Given the description of an element on the screen output the (x, y) to click on. 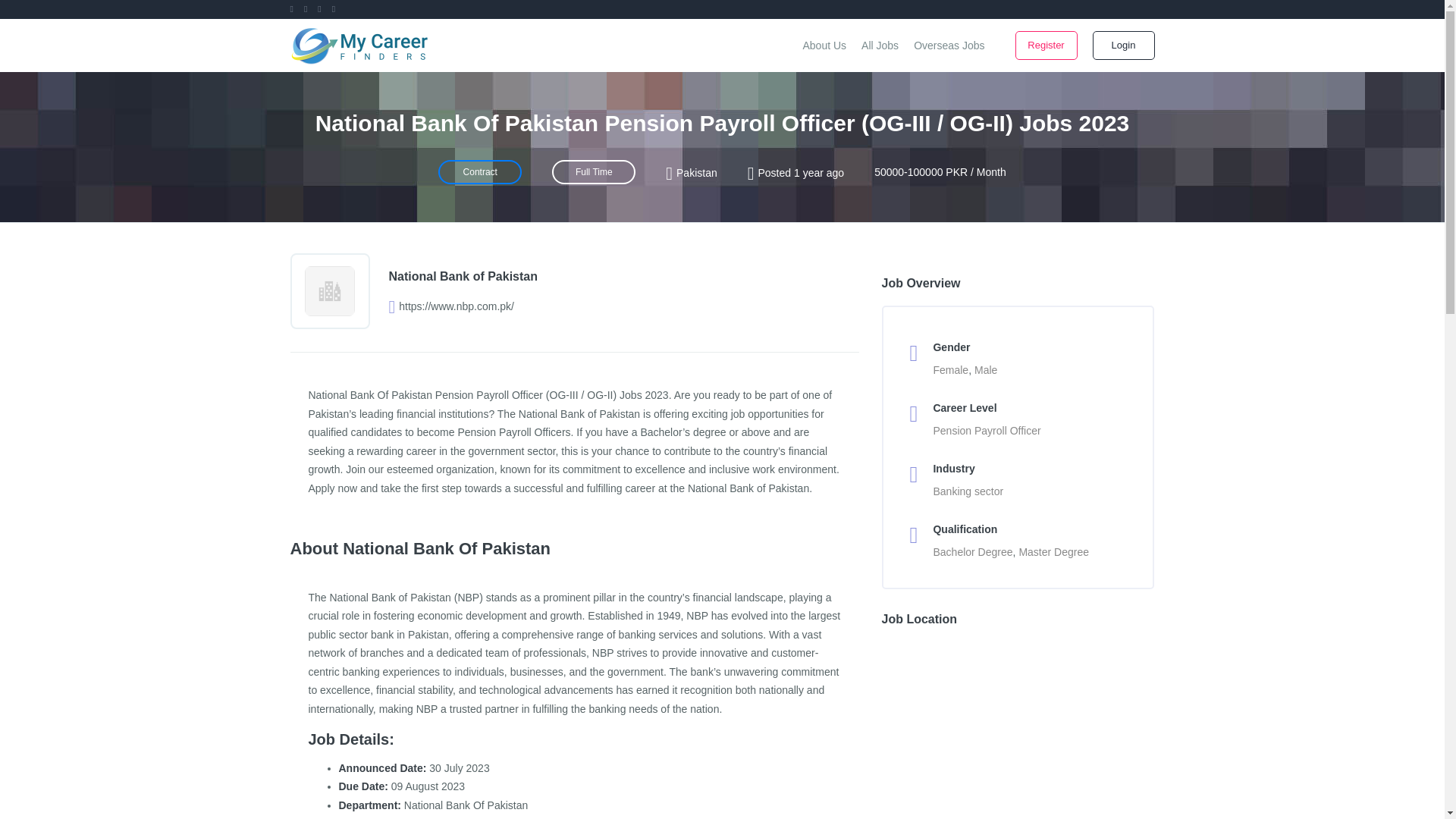
Login (1123, 45)
Bachelor Degree (972, 551)
Register (1045, 45)
Overseas Jobs (948, 45)
About Us (823, 45)
Pakistan (697, 173)
All Jobs (879, 45)
Master Degree (1053, 551)
Pension Payroll Officer (987, 430)
Male (985, 369)
